Given the description of an element on the screen output the (x, y) to click on. 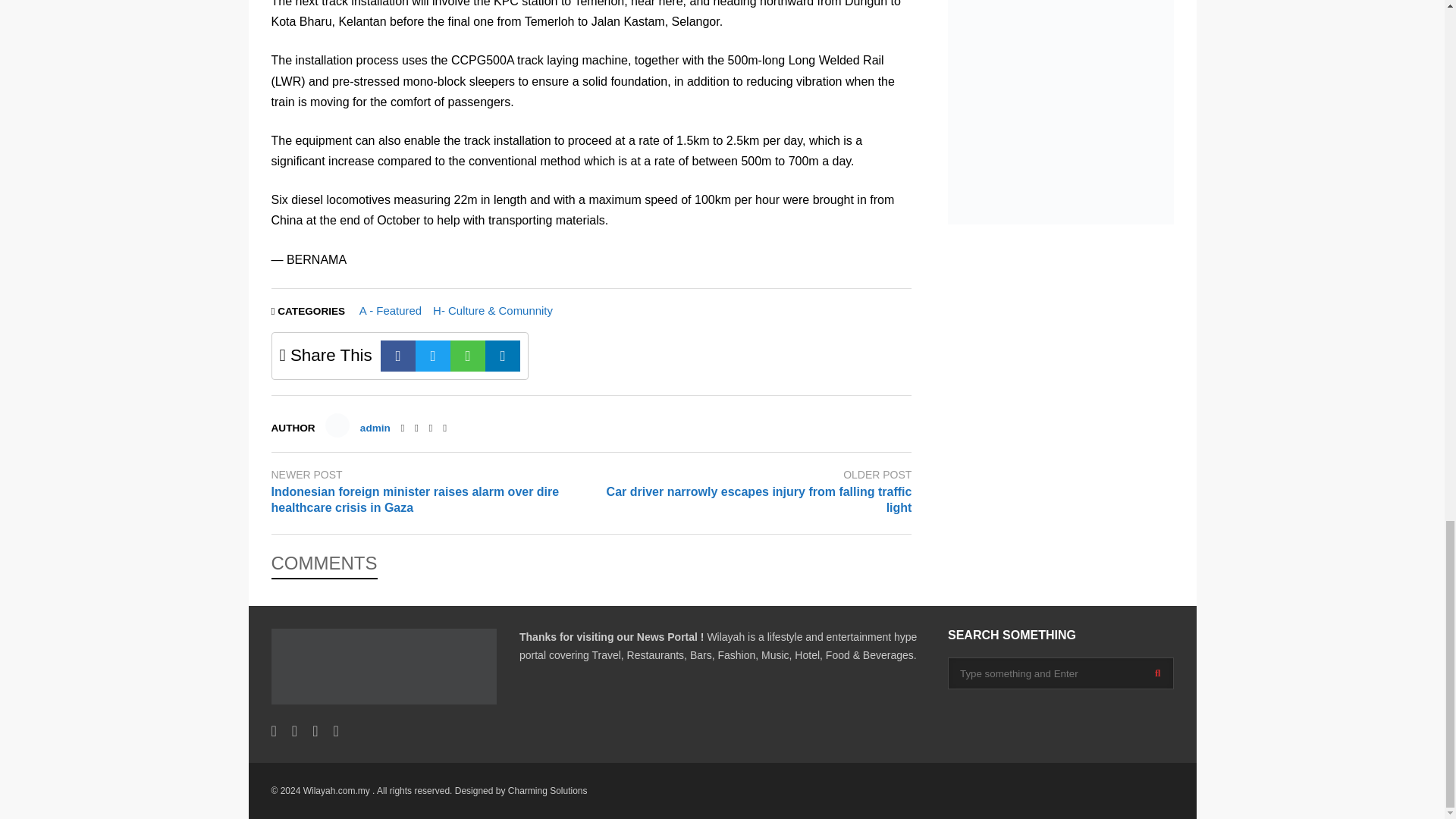
A - Featured (390, 309)
admin (374, 428)
Twitter (431, 355)
Linkedin (501, 355)
Whatsapp (466, 355)
Twitter (416, 428)
Facebook (397, 355)
Facebook (402, 428)
